Given the description of an element on the screen output the (x, y) to click on. 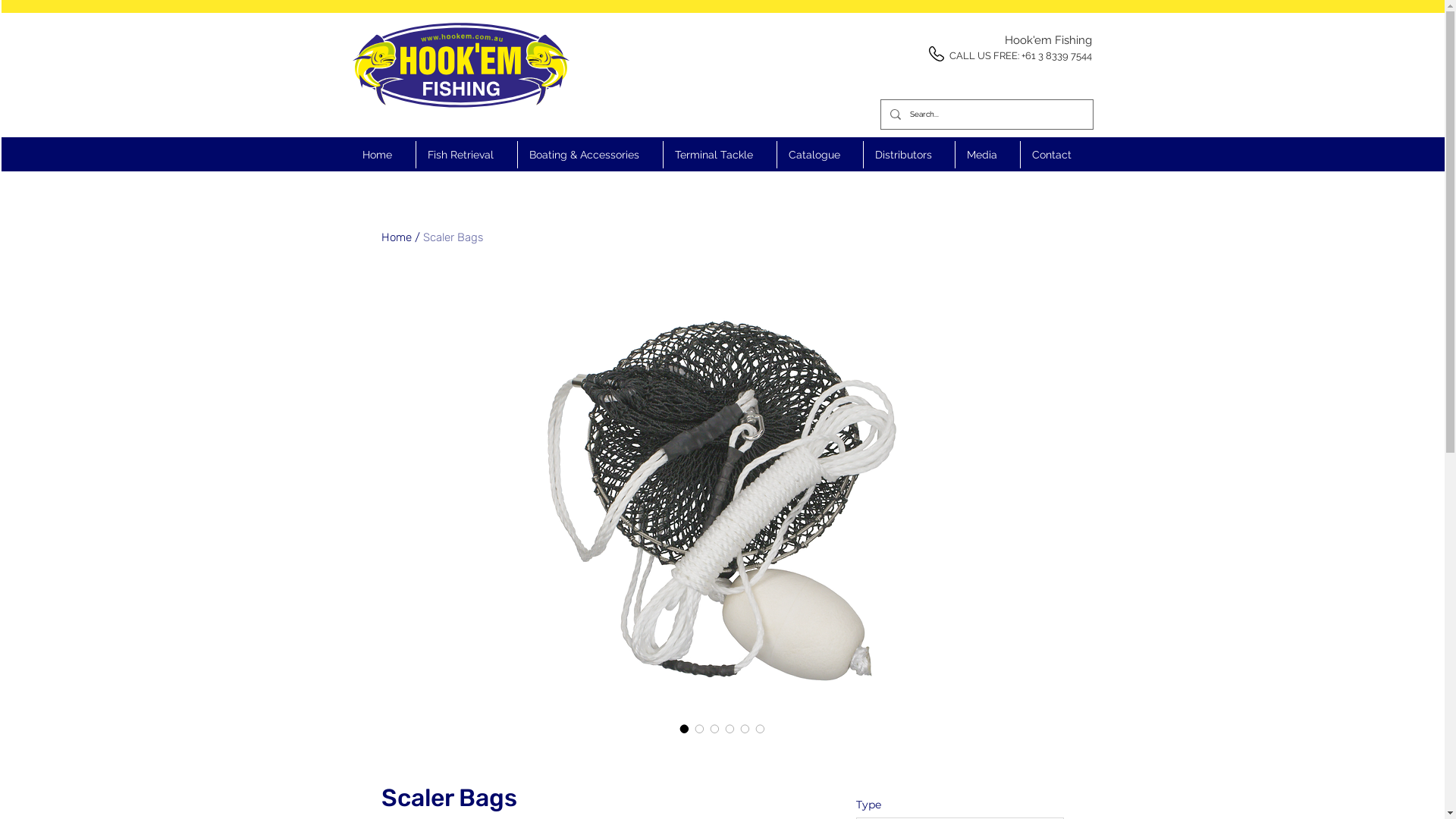
Home Element type: text (395, 237)
Contact Element type: text (1057, 154)
Scaler Bags Element type: text (453, 237)
Catalogue Element type: text (819, 154)
Terminal Tackle Element type: text (718, 154)
Fish Retrieval Element type: text (465, 154)
Media Element type: text (987, 154)
Boating & Accessories Element type: text (589, 154)
Home Element type: text (382, 154)
Distributors Element type: text (907, 154)
